Given the description of an element on the screen output the (x, y) to click on. 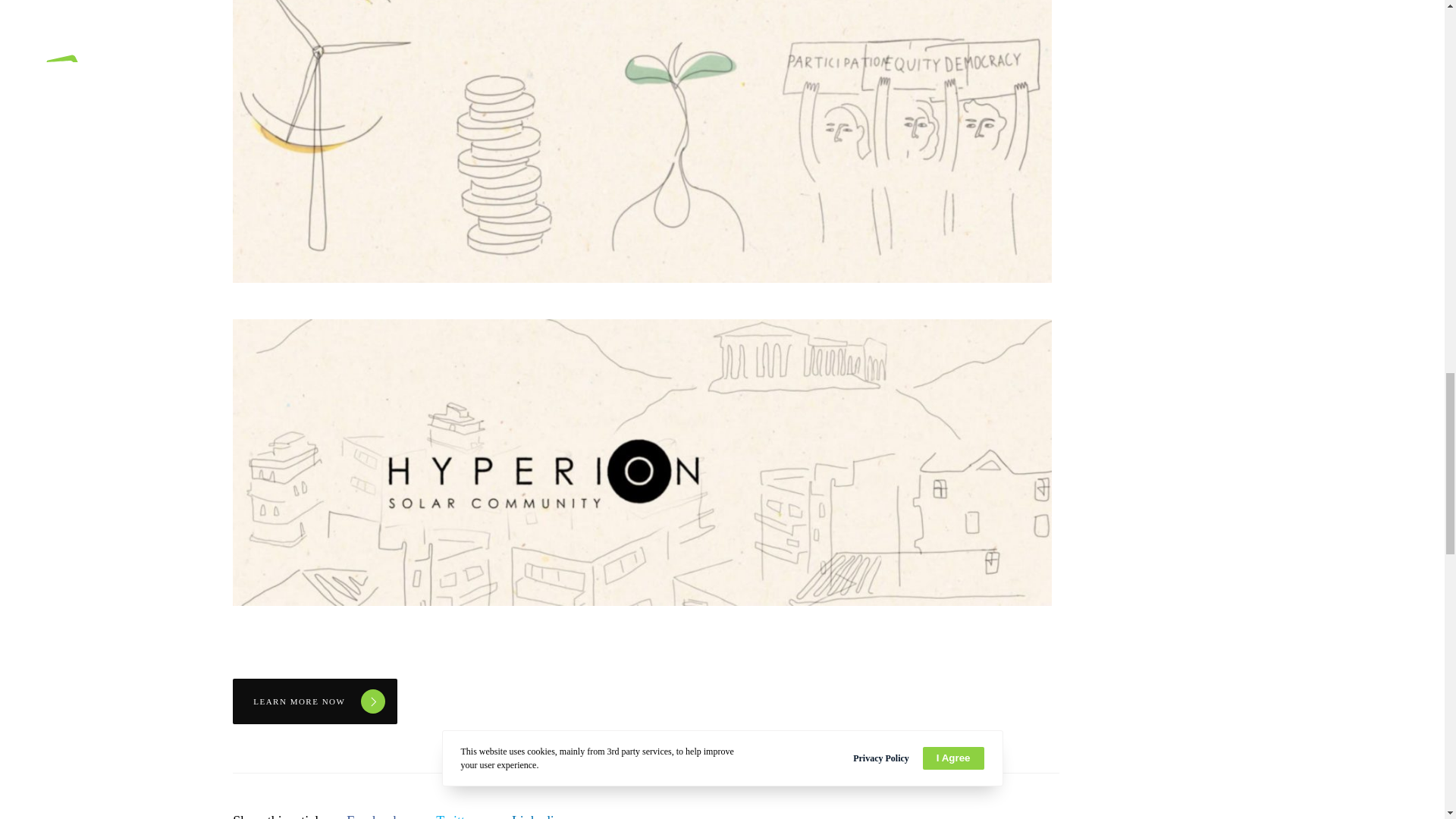
Twitter (455, 816)
Hyperion Solar Community (455, 816)
Facebook (372, 816)
Linkedin (536, 816)
Hyperion Solar Community (536, 816)
LEARN MORE NOW (314, 700)
Hyperion Solar Community (372, 816)
